Given the description of an element on the screen output the (x, y) to click on. 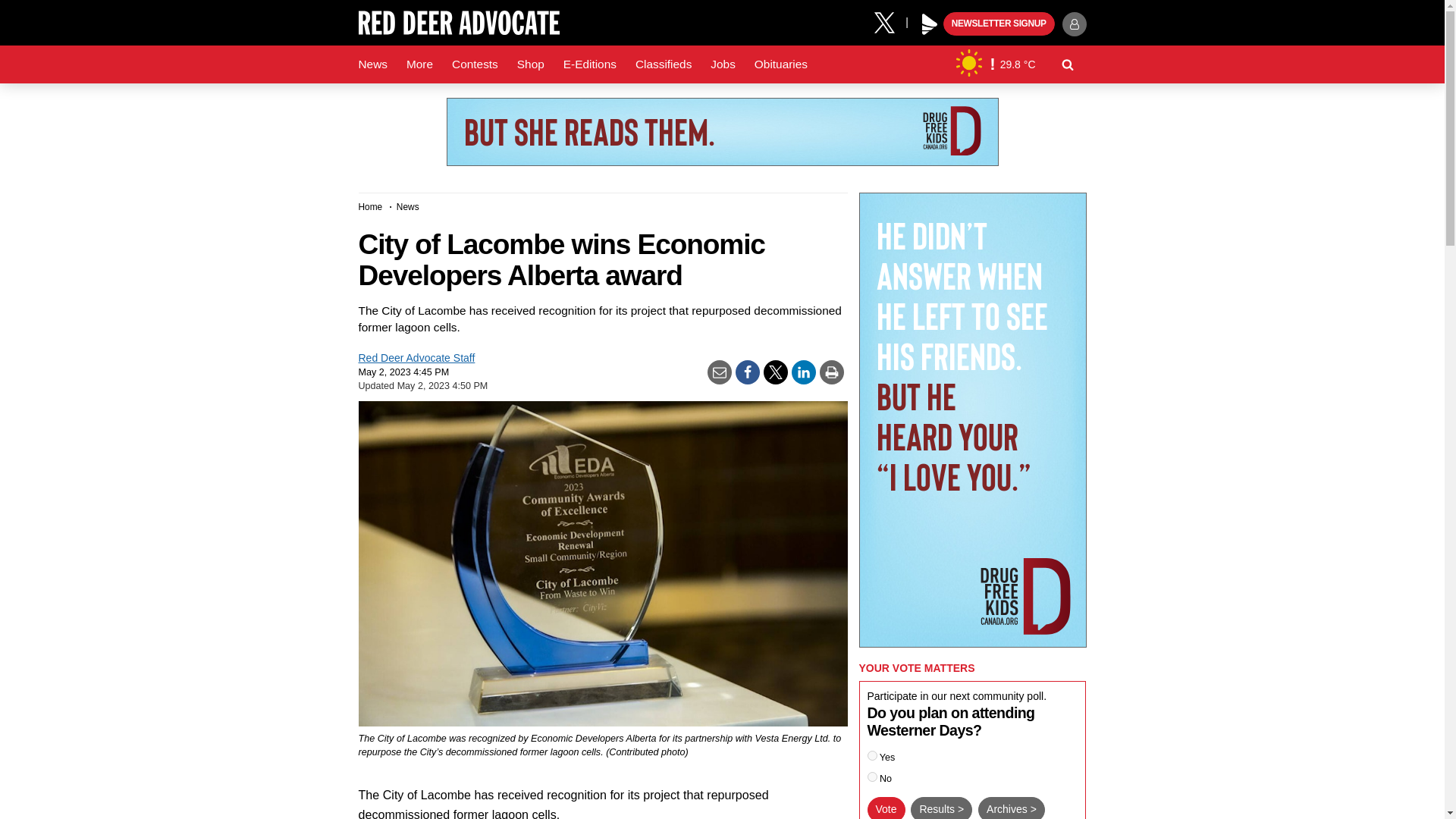
237 (872, 777)
NEWSLETTER SIGNUP (998, 24)
X (889, 21)
236 (872, 755)
Play (929, 24)
3rd party ad content (721, 131)
News (372, 64)
Black Press Media (929, 24)
